Given the description of an element on the screen output the (x, y) to click on. 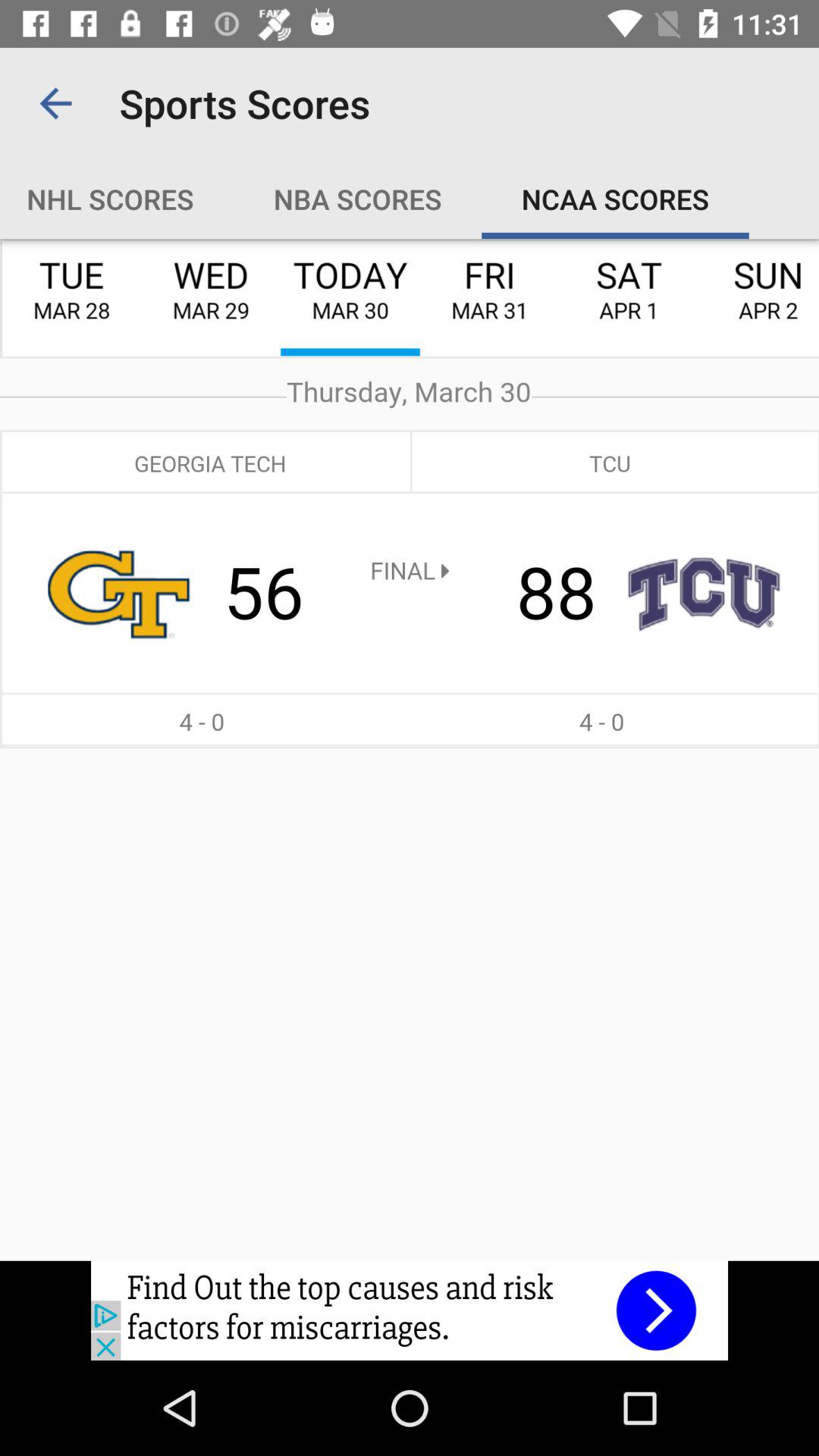
advertisement click (409, 1310)
